Given the description of an element on the screen output the (x, y) to click on. 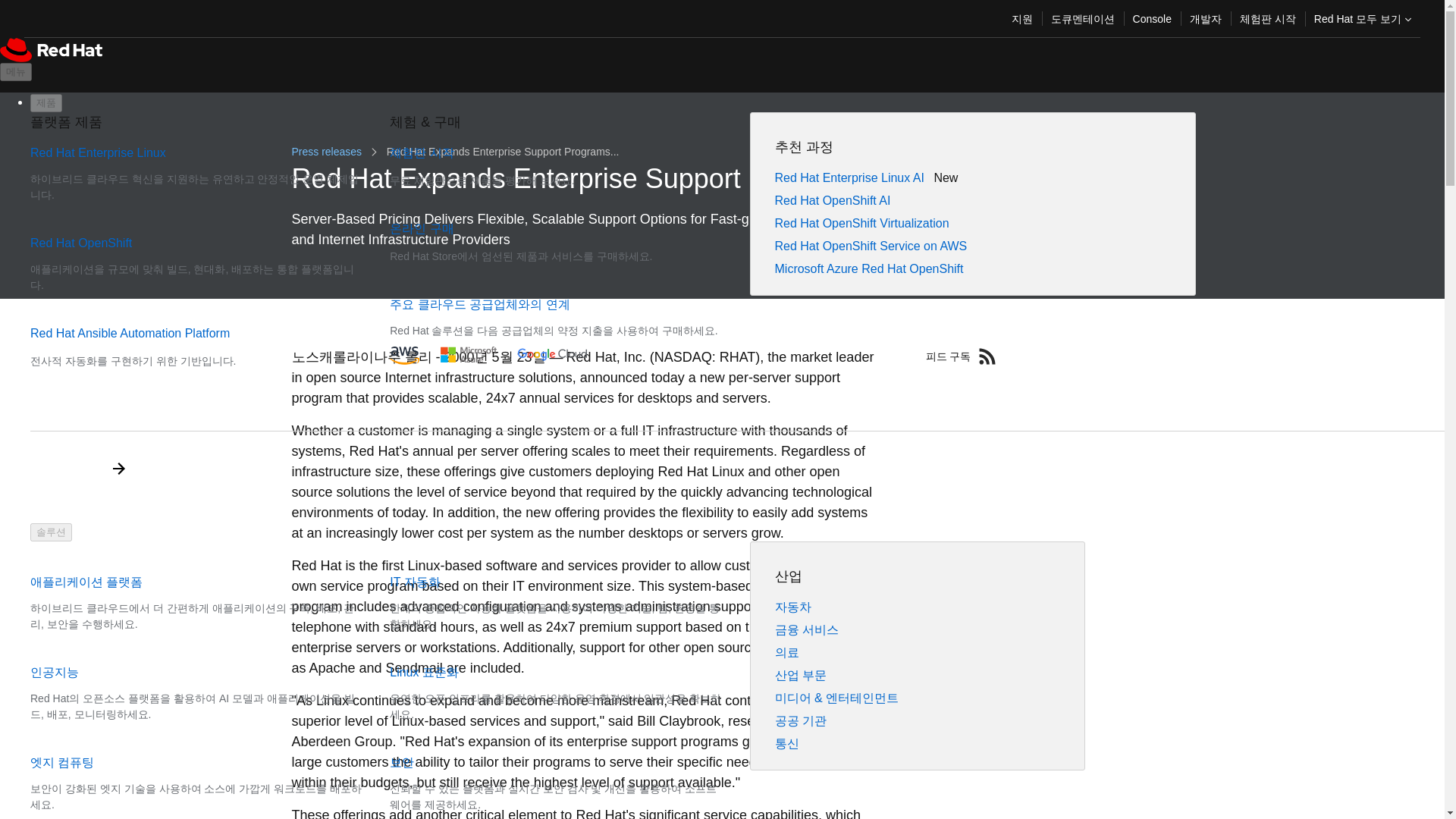
press releases (327, 151)
Console (1152, 18)
